Given the description of an element on the screen output the (x, y) to click on. 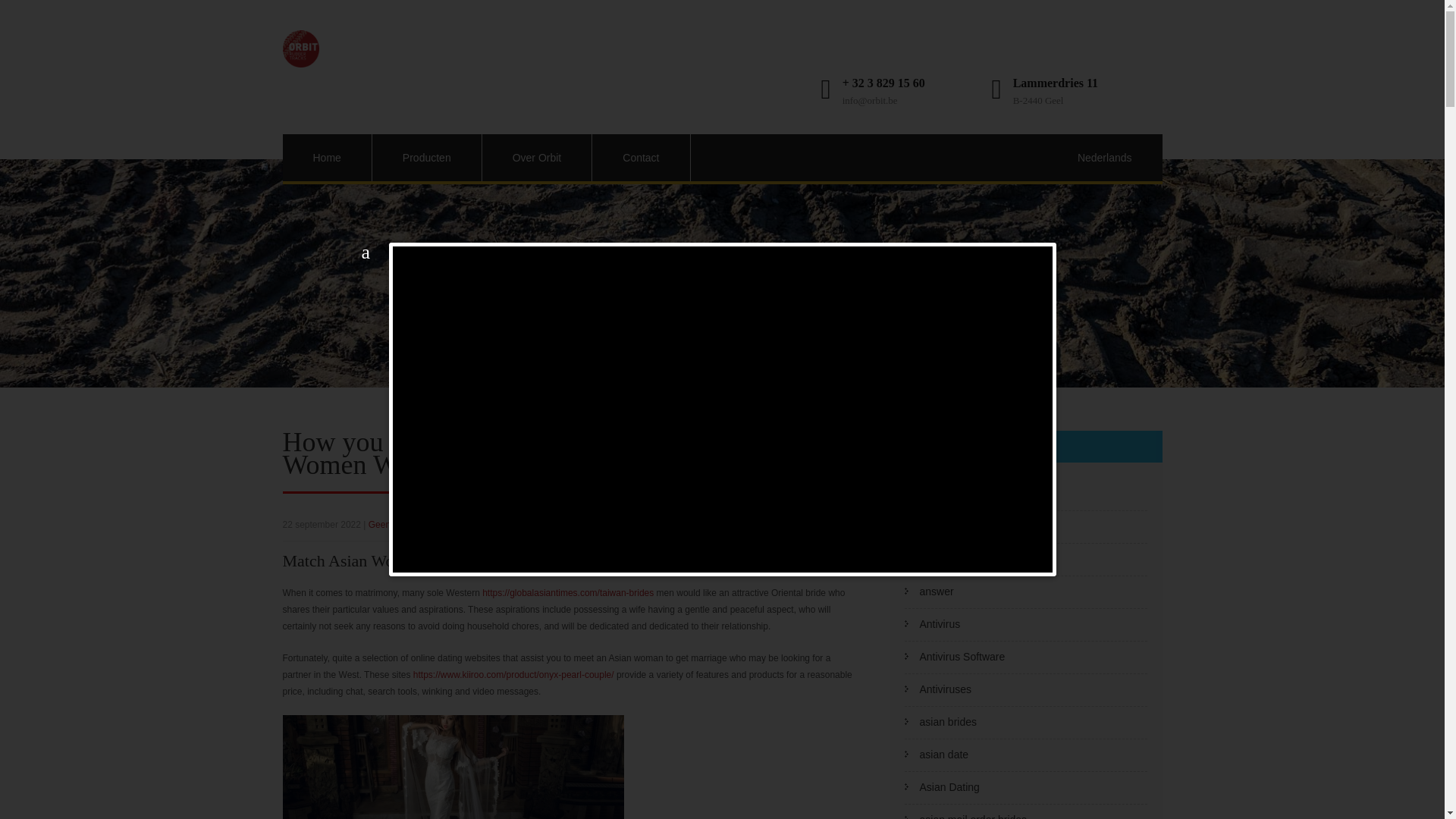
Producten (426, 157)
adult dating sites (958, 526)
Antivirus (938, 623)
adult dating (946, 493)
asian brides (947, 721)
asian date (943, 754)
Nederlands (1103, 157)
Asian Dating (948, 786)
Antivirus Software (961, 656)
Antiviruses (944, 689)
Geen reacties (396, 524)
Contact (640, 157)
Over Orbit (536, 157)
asian mail order brides (972, 816)
answer (935, 591)
